Given the description of an element on the screen output the (x, y) to click on. 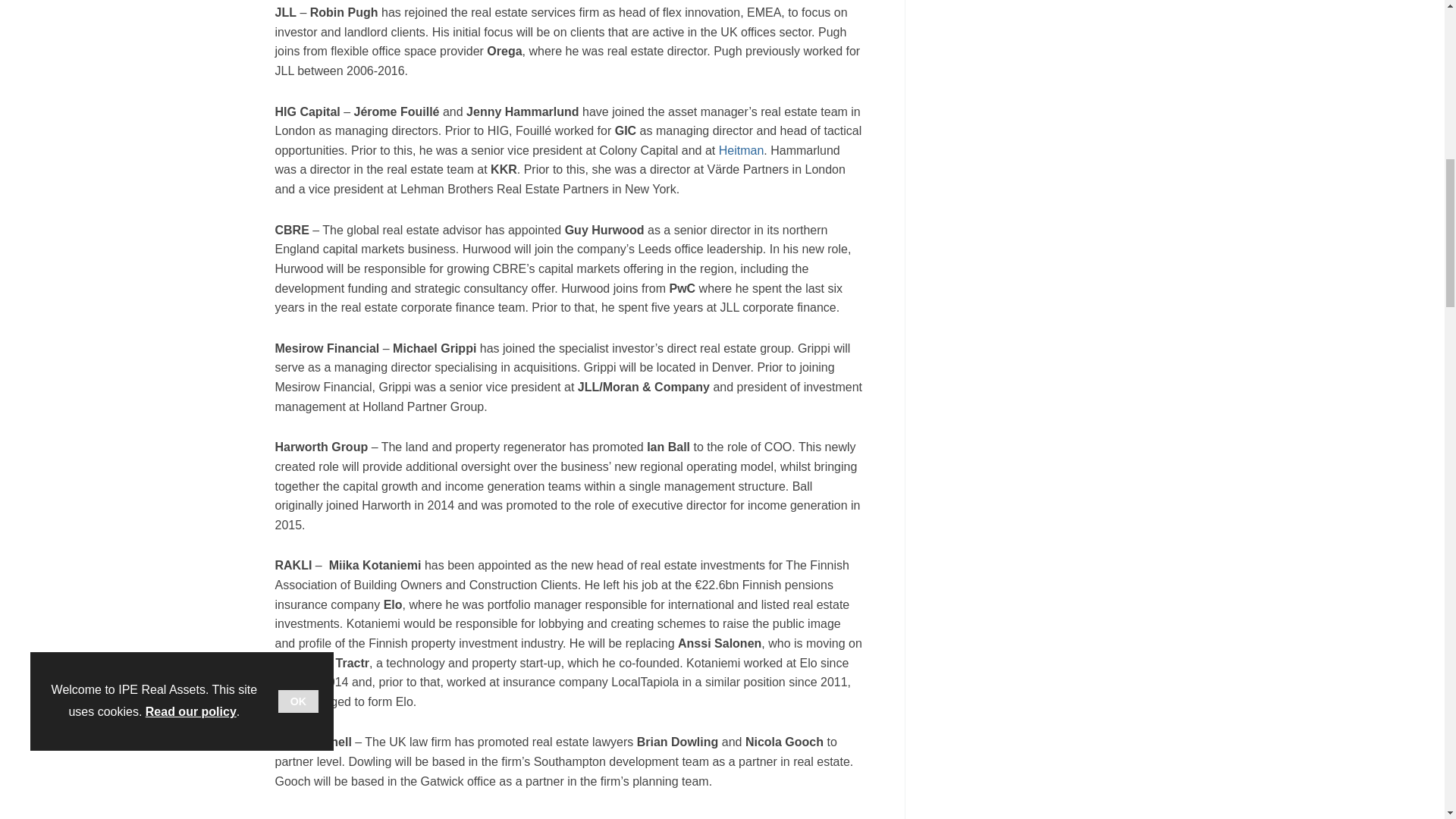
3rd party ad content (1055, 54)
